Given the description of an element on the screen output the (x, y) to click on. 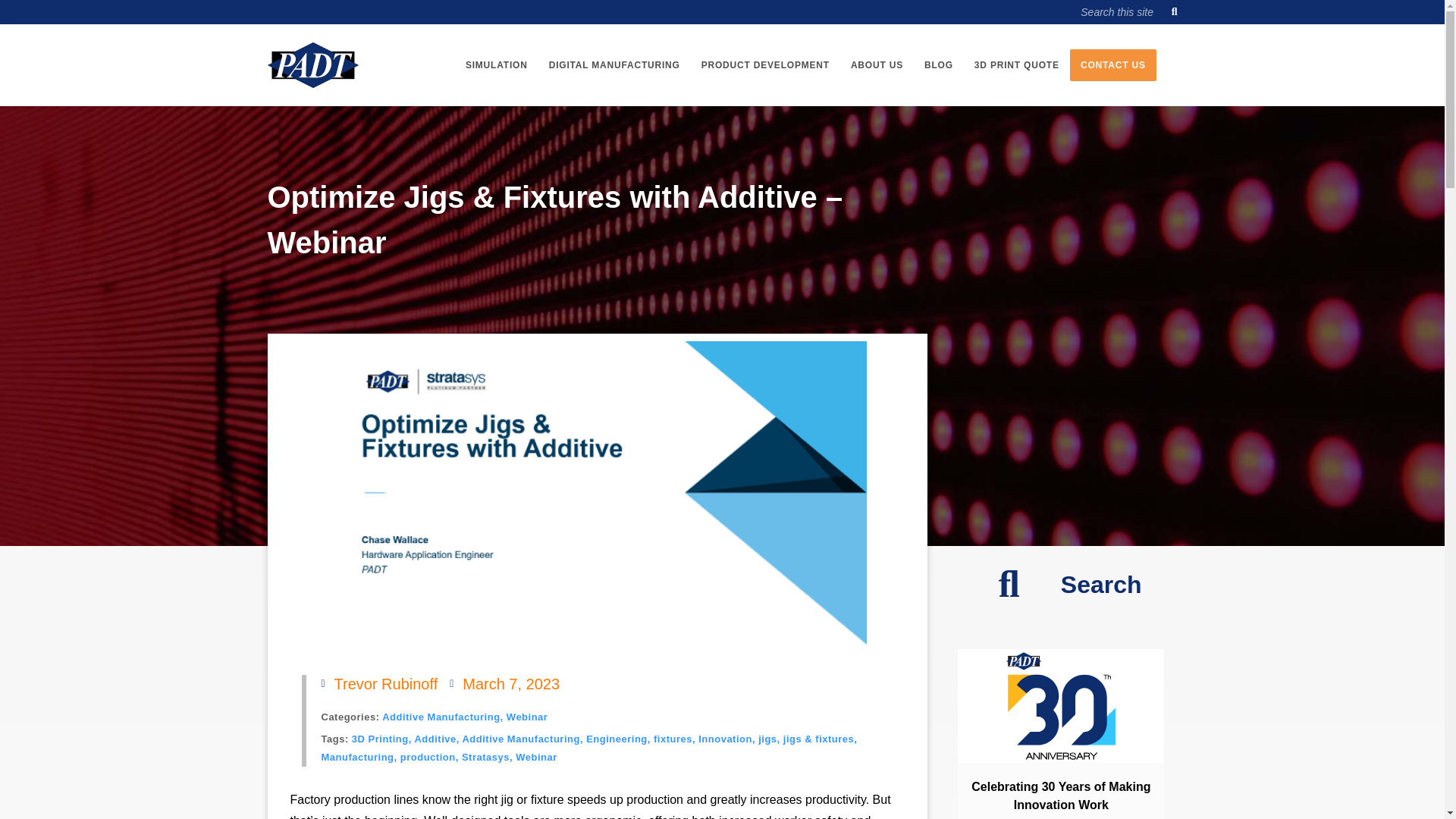
PRODUCT DEVELOPMENT (765, 65)
Search this site (1126, 12)
ABOUT US (877, 65)
PADT30-Primary (1061, 705)
SIMULATION (496, 65)
DIGITAL MANUFACTURING (614, 65)
